Given the description of an element on the screen output the (x, y) to click on. 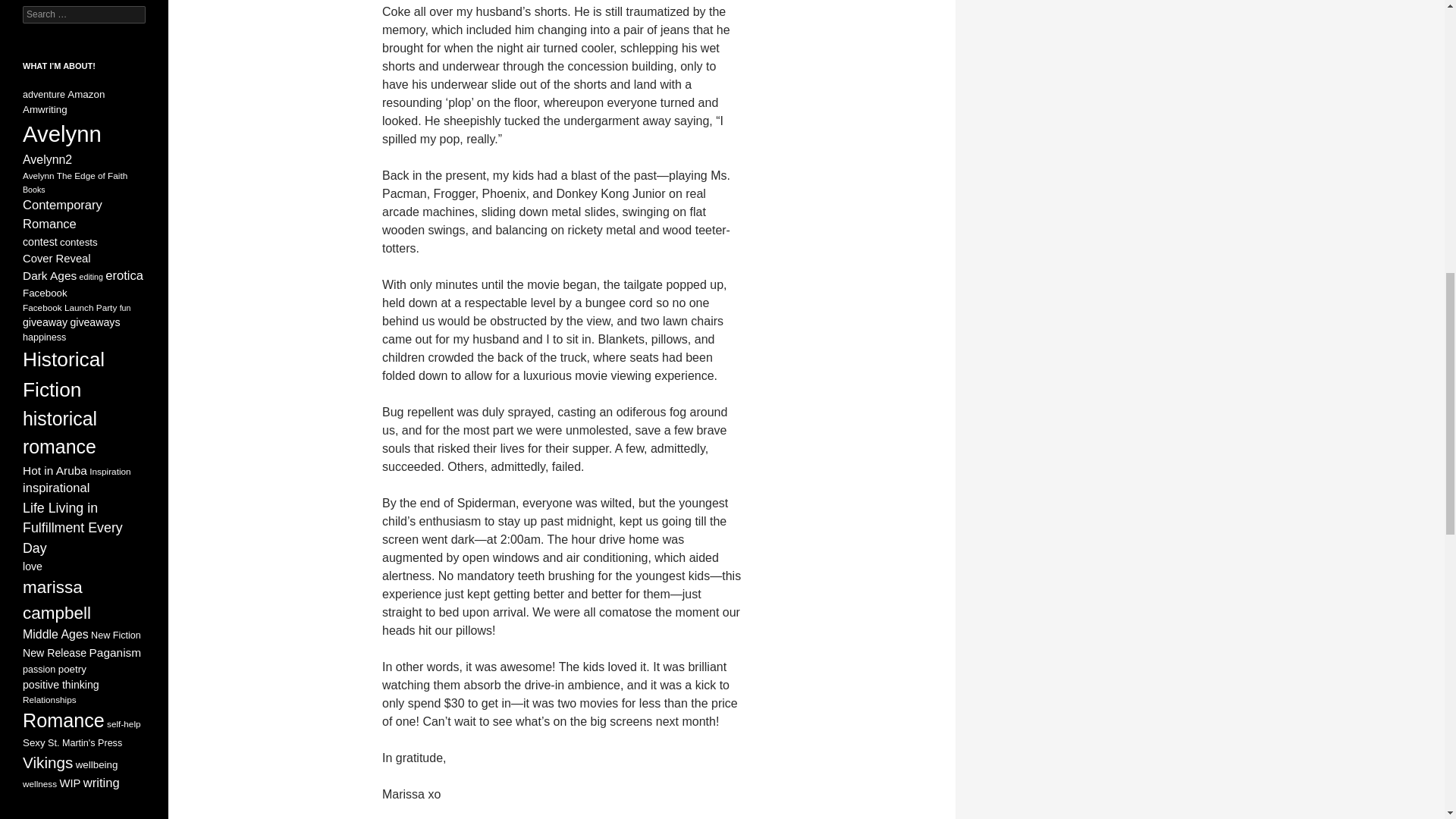
Avelynn2 (47, 159)
adventure (44, 94)
contest (40, 241)
Avelynn The Edge of Faith (75, 175)
Amwriting (44, 109)
Avelynn (62, 133)
Amazon (85, 93)
Books (34, 189)
contests (78, 242)
Contemporary Romance (62, 214)
